Given the description of an element on the screen output the (x, y) to click on. 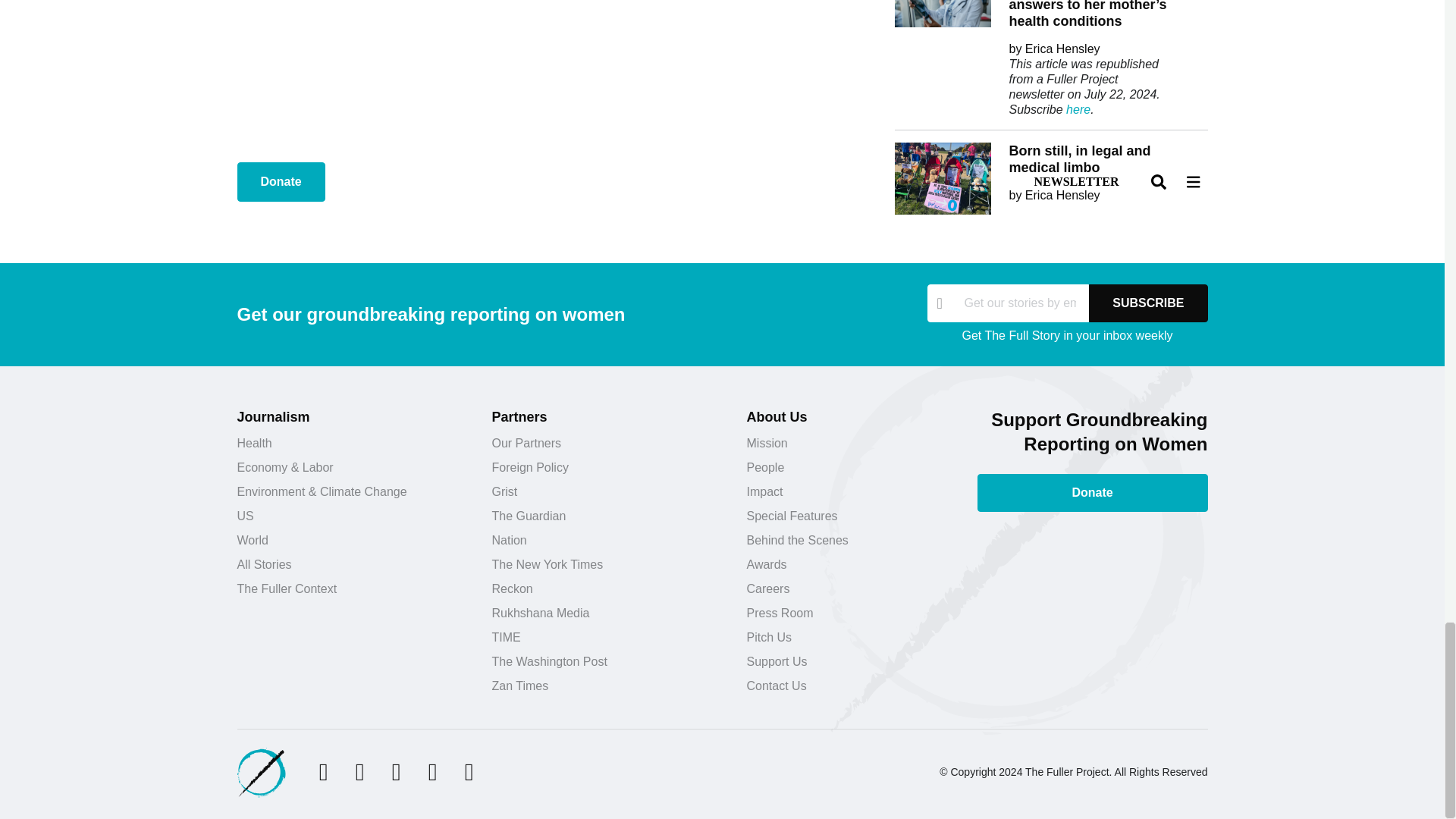
Instagram (395, 771)
Facebook (359, 771)
Linkedin (432, 771)
Mastodon (468, 771)
Twitter (322, 771)
